Given the description of an element on the screen output the (x, y) to click on. 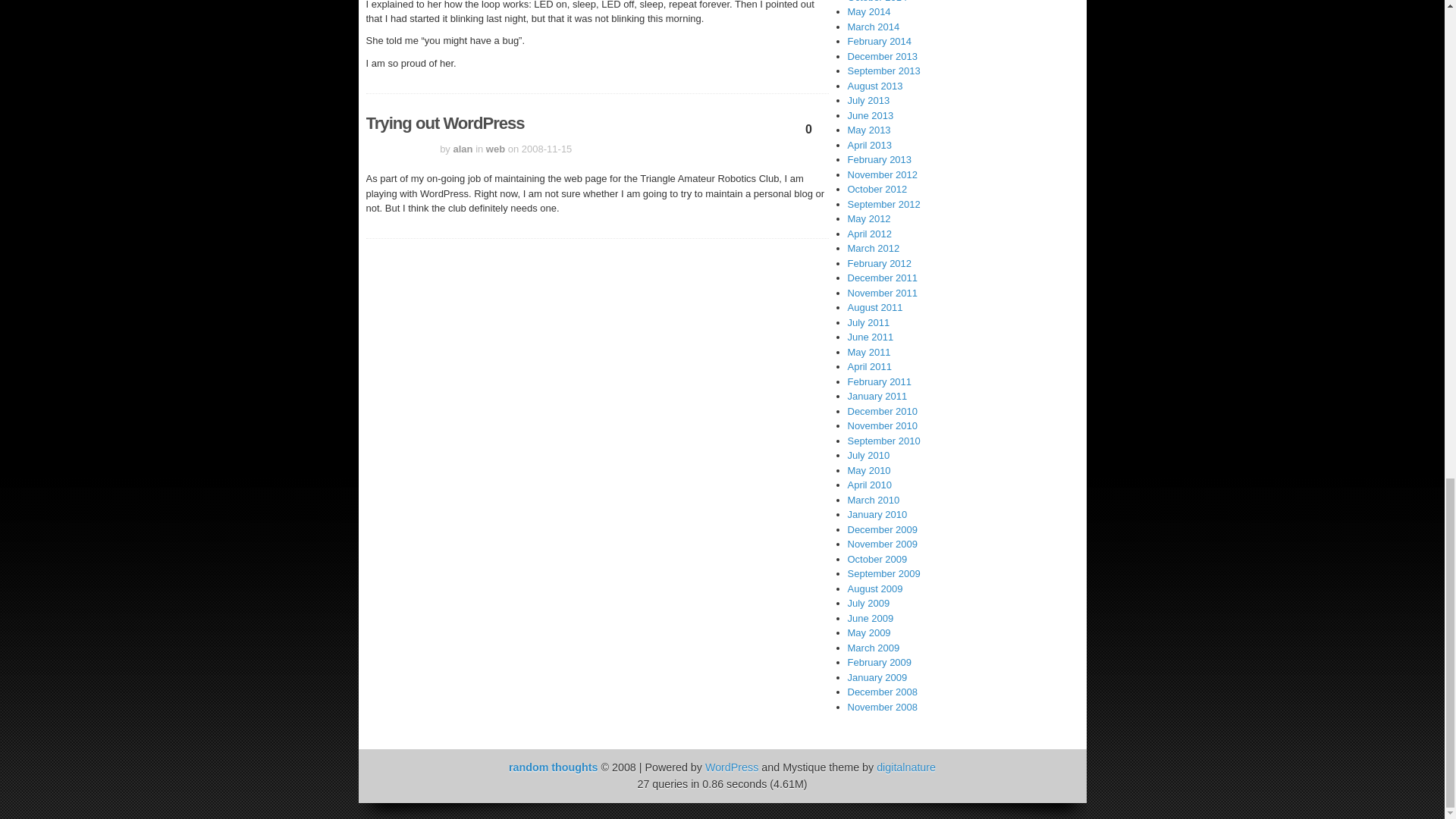
Trying out WordPress (444, 122)
Permalink to Trying out WordPress (444, 122)
Posts by alan (461, 148)
0 (809, 133)
web (495, 148)
alan (461, 148)
